Given the description of an element on the screen output the (x, y) to click on. 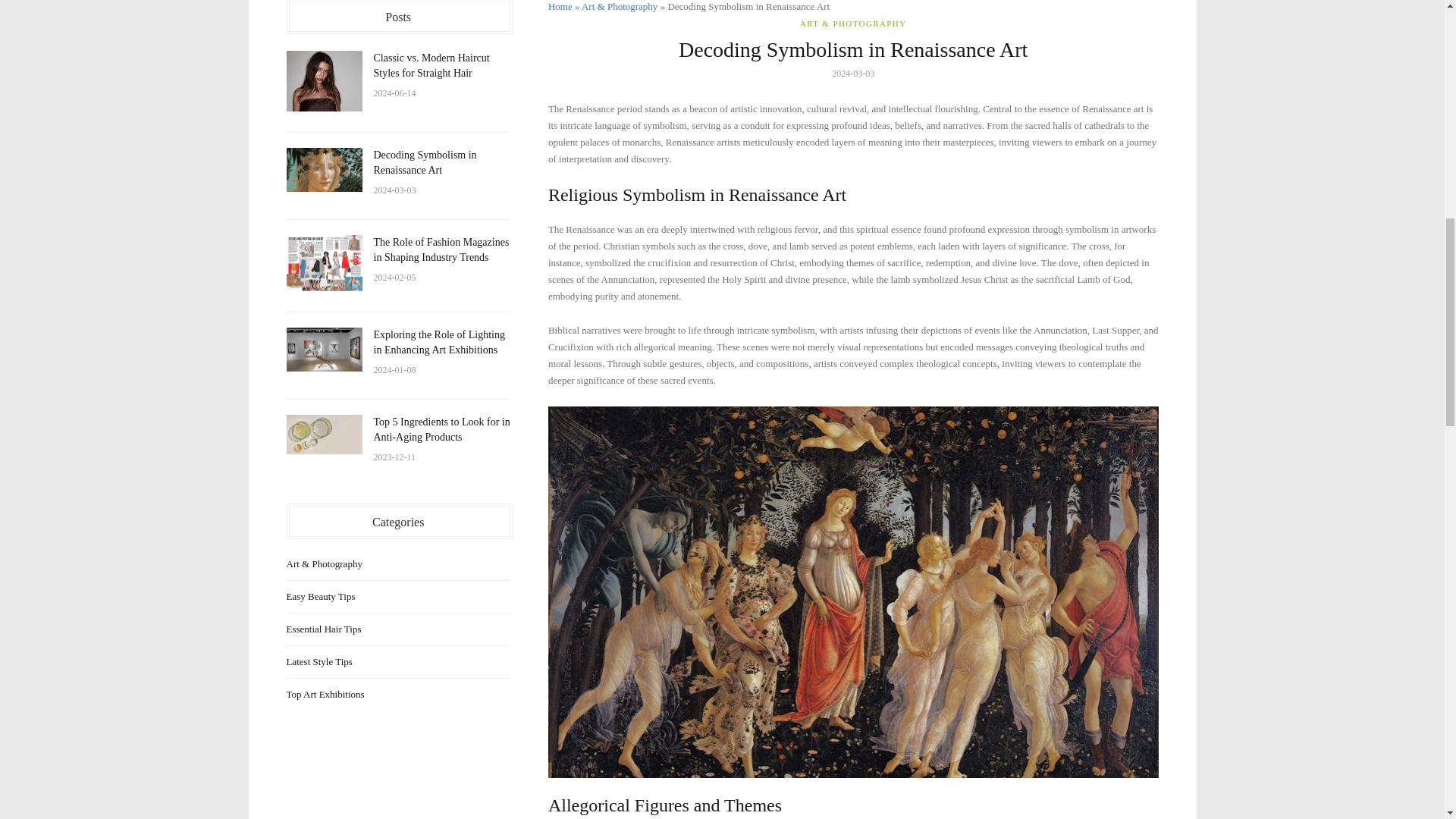
Classic vs. Modern Haircut Styles for Straight Hair (324, 80)
The Role of Fashion Magazines in Shaping Industry Trends (324, 263)
Top 5 Ingredients to Look for in Anti-Aging Products (440, 429)
Exploring the Role of Lighting in Enhancing Art Exhibitions (324, 349)
The Role of Fashion Magazines in Shaping Industry Trends (440, 249)
Home (560, 6)
Home (560, 6)
Easy Beauty Tips (381, 596)
Top 5 Ingredients to Look for in Anti-Aging Products (324, 434)
Decoding Symbolism in Renaissance Art (324, 169)
Top 5 Ingredients to Look for in Anti-Aging Products (440, 429)
The Role of Fashion Magazines in Shaping Industry Trends (440, 249)
Classic vs. Modern Haircut Styles for Straight Hair (430, 65)
Decoding Symbolism in Renaissance Art (424, 162)
Decoding Symbolism in Renaissance Art (424, 162)
